Given the description of an element on the screen output the (x, y) to click on. 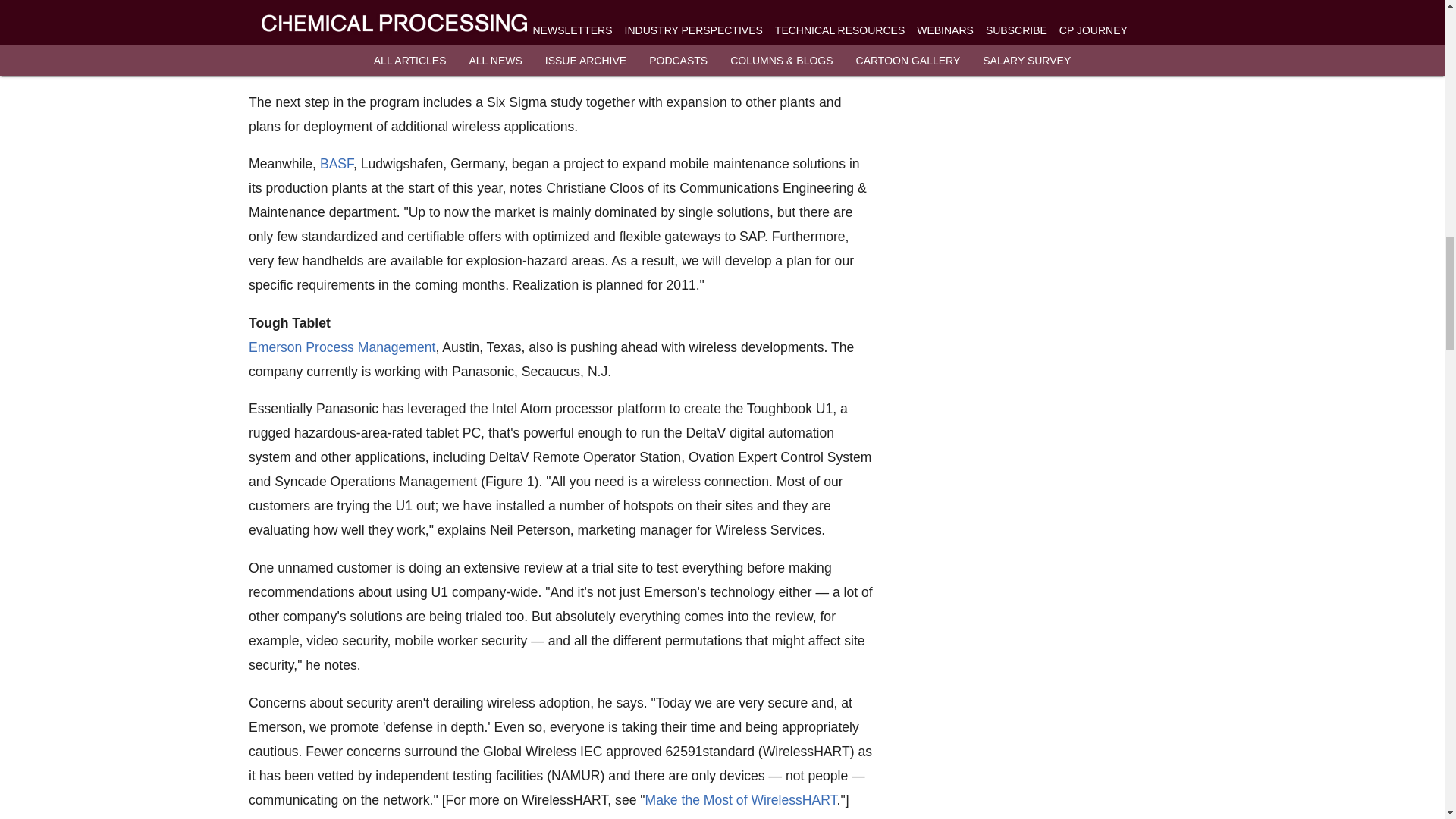
BASF (335, 163)
Emerson Process Management (341, 346)
Make the Most of WirelessHART (740, 798)
